Given the description of an element on the screen output the (x, y) to click on. 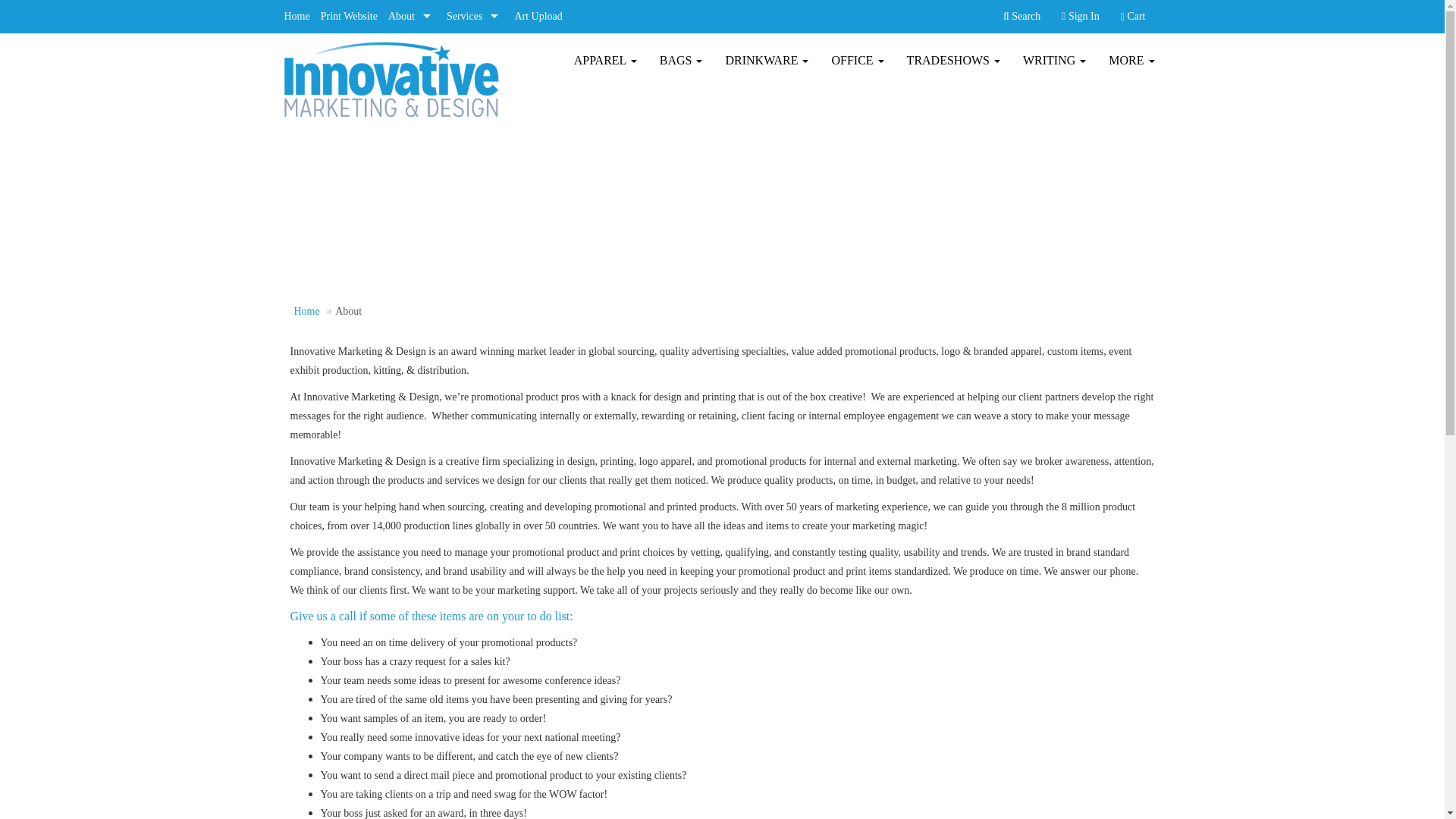
Sign In (1080, 16)
Search (1021, 16)
Cart (1133, 16)
Services (474, 16)
Print Website (348, 16)
Art Upload (537, 16)
Home (297, 16)
About (411, 16)
